Given the description of an element on the screen output the (x, y) to click on. 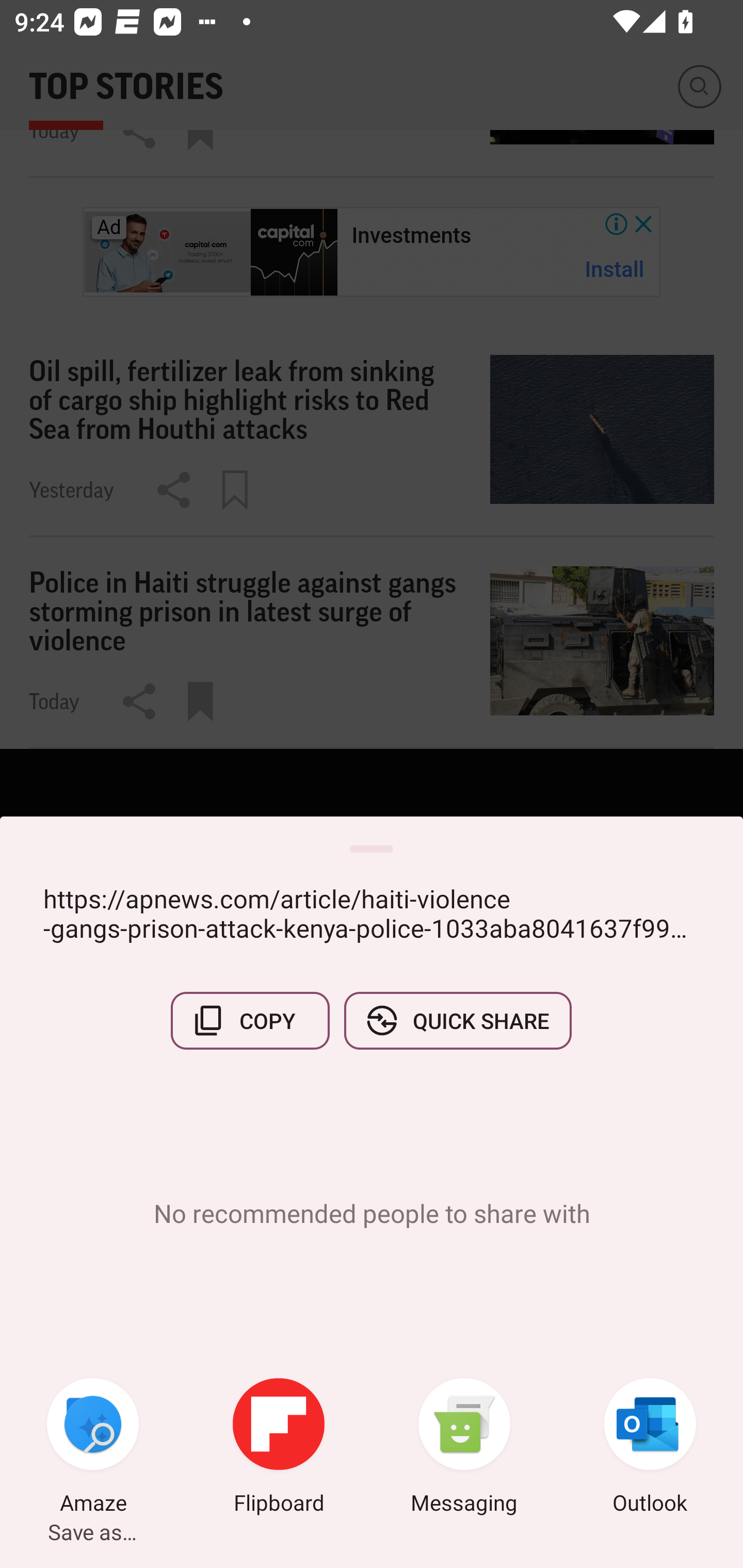
COPY (249, 1020)
QUICK SHARE (457, 1020)
Amaze Save as… (92, 1448)
Flipboard (278, 1448)
Messaging (464, 1448)
Outlook (650, 1448)
